Given the description of an element on the screen output the (x, y) to click on. 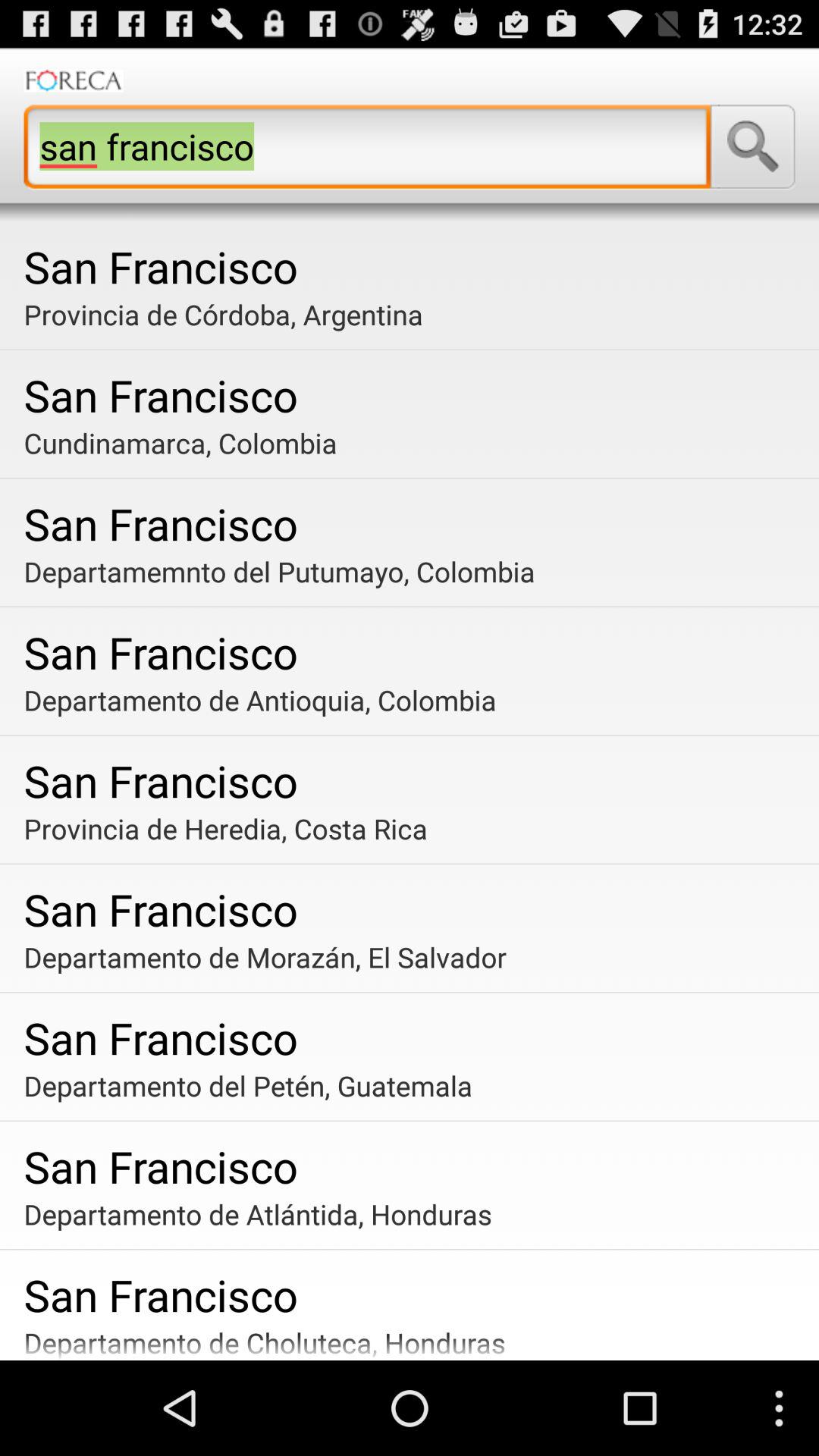
press the button at the top right corner (752, 146)
